Given the description of an element on the screen output the (x, y) to click on. 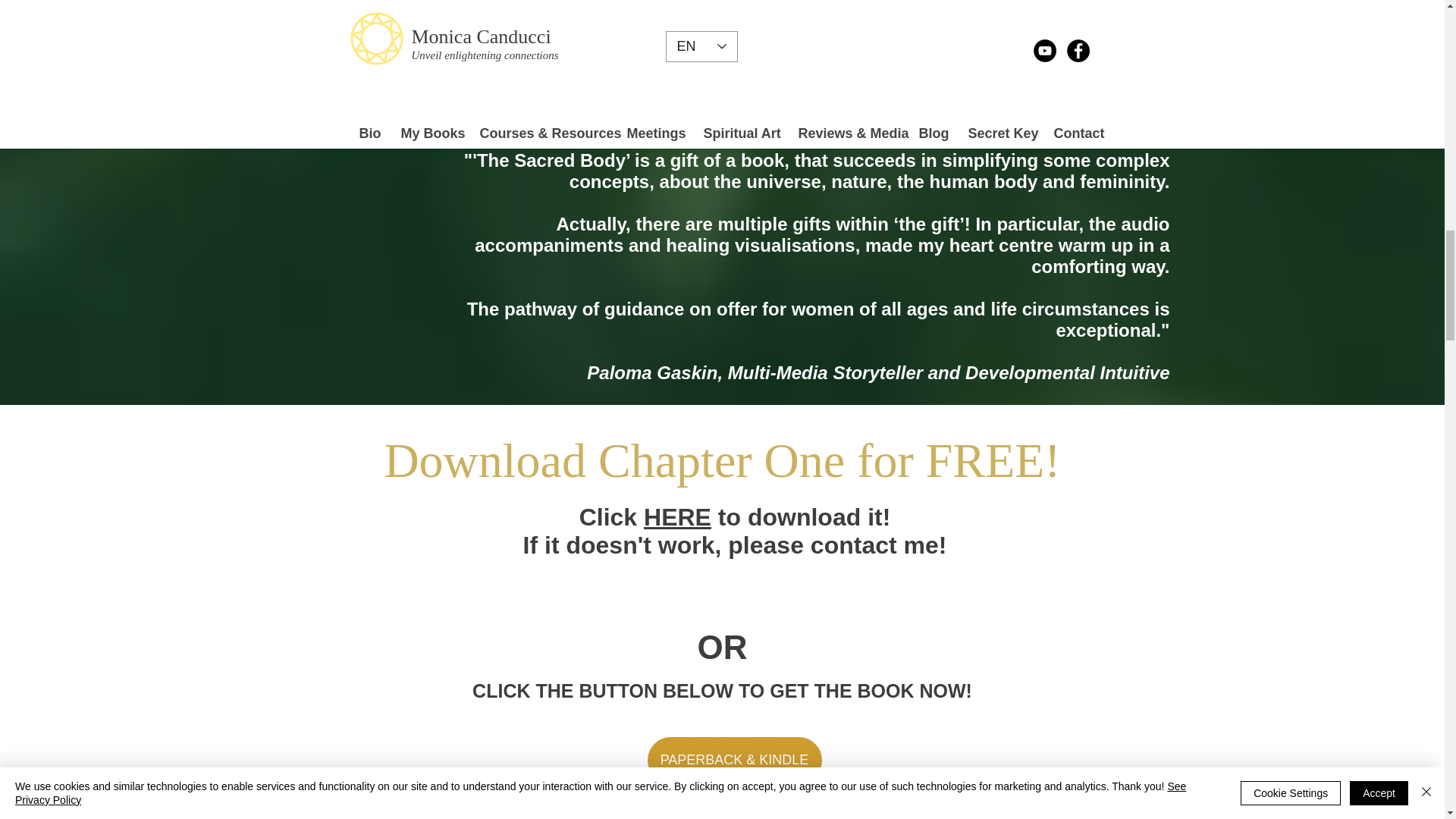
HERE (677, 516)
